Given the description of an element on the screen output the (x, y) to click on. 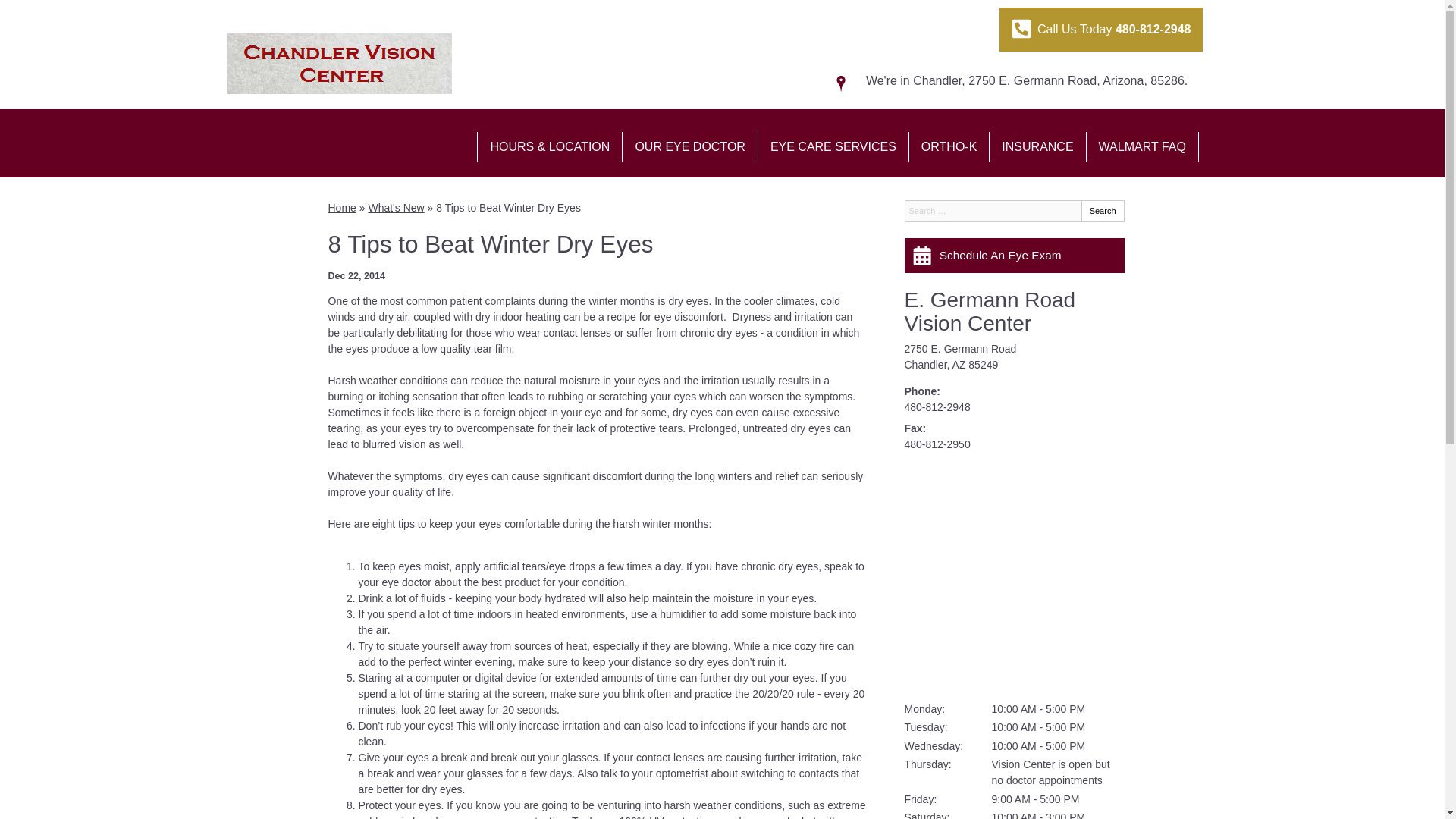
Schedule An Eye Exam (1014, 255)
Google map (1014, 577)
WALMART FAQ (1142, 146)
480-812-2948 (936, 407)
Home (341, 207)
EYE CARE SERVICES (833, 146)
E. Germann Road Vision Center (989, 311)
Call Us Today 480-812-2948 (1100, 29)
Search (1102, 210)
OUR EYE DOCTOR (690, 146)
